Given the description of an element on the screen output the (x, y) to click on. 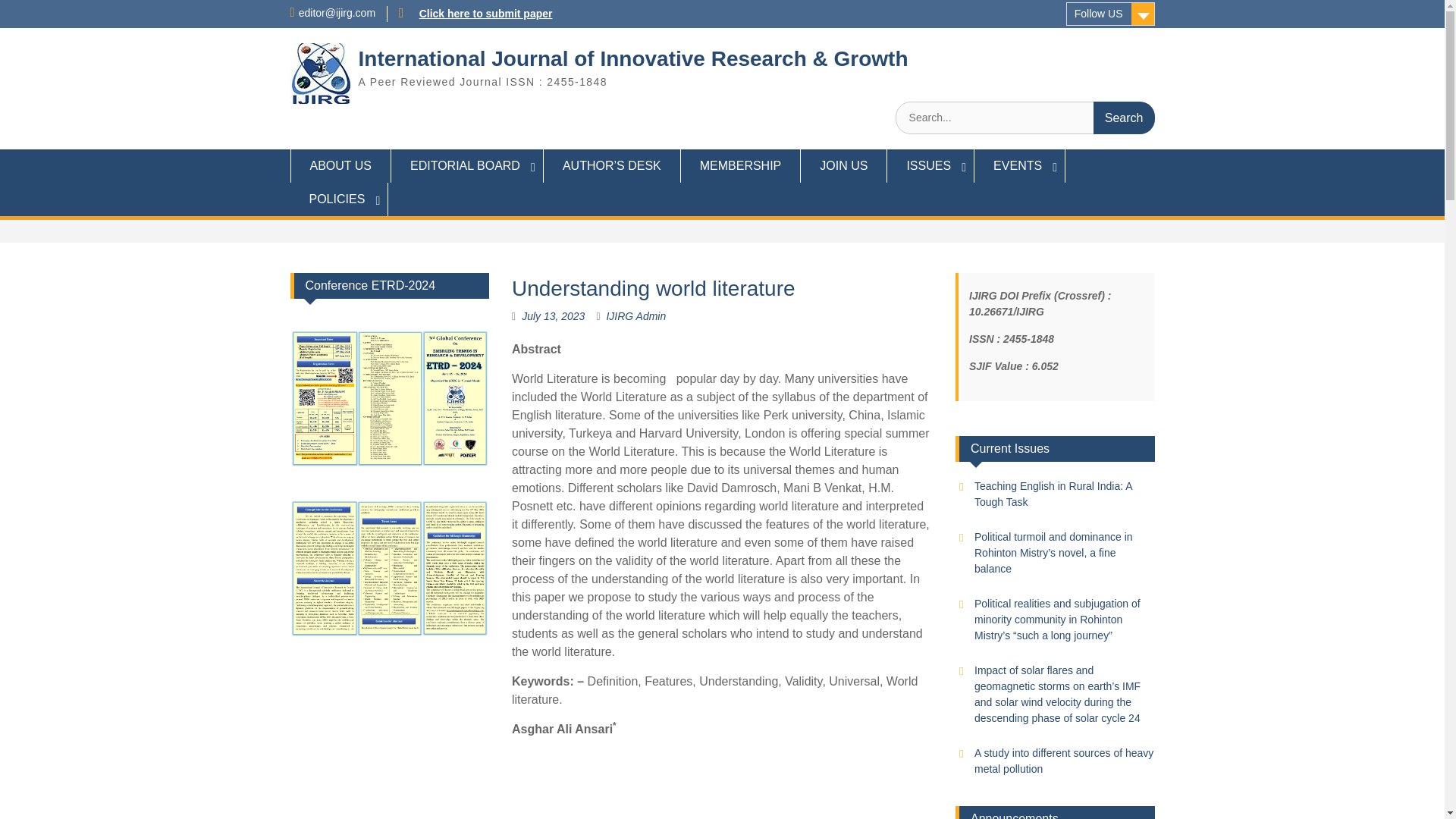
POLICIES (338, 199)
Search (1123, 117)
Search (1123, 117)
EDITORIAL BOARD (467, 165)
Follow US (1109, 13)
Click here to submit paper (486, 13)
ISSUES (930, 165)
ABOUT US (340, 165)
Search (1123, 117)
Search for: (1024, 117)
